Given the description of an element on the screen output the (x, y) to click on. 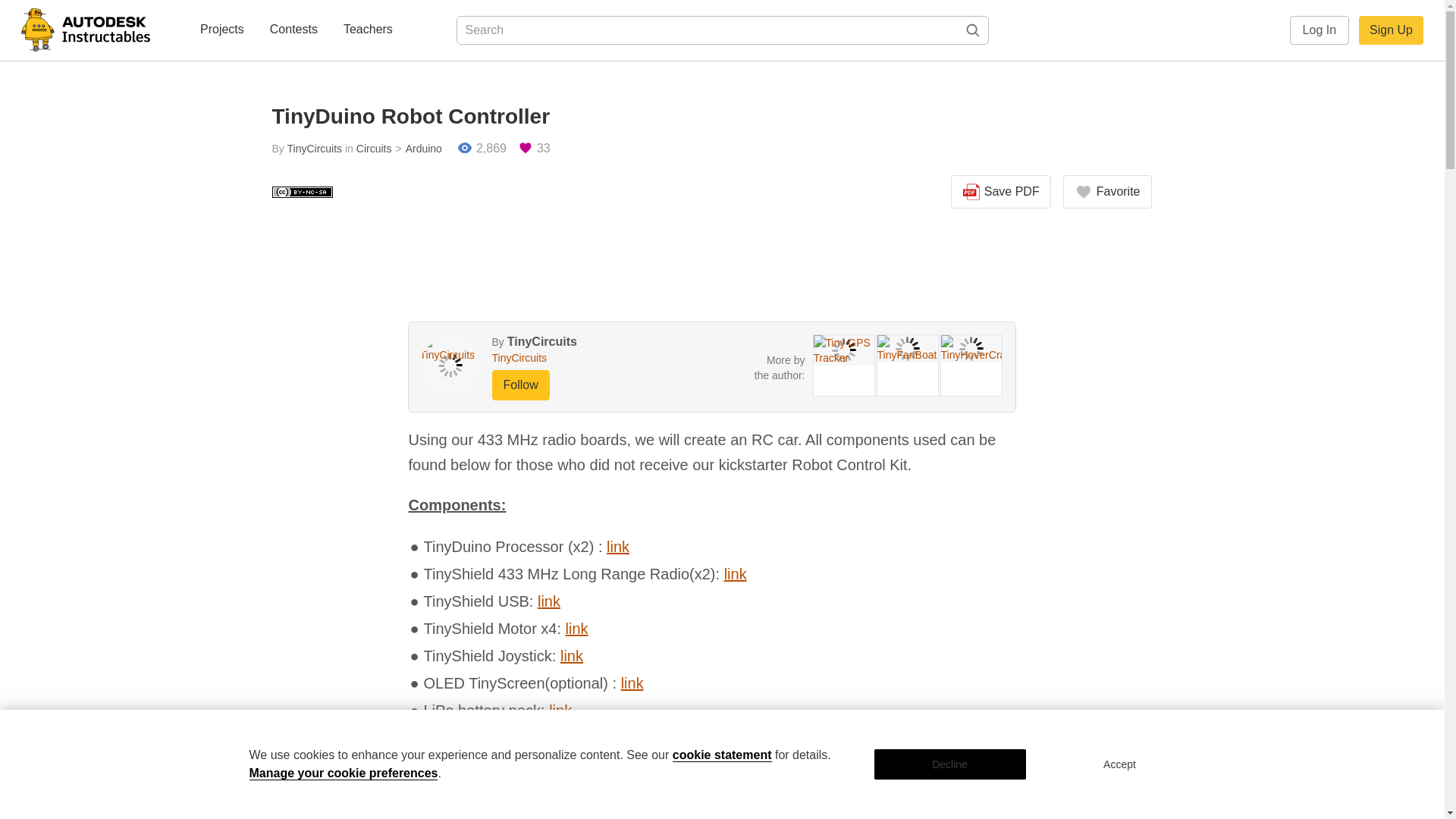
TinyCircuits (314, 148)
Teachers (368, 30)
link (571, 655)
Circuits (373, 148)
link (734, 573)
Favorite (1106, 191)
Sign Up (1390, 30)
Contests (293, 30)
link (632, 682)
link (548, 600)
TinyCircuits (570, 358)
Projects (221, 30)
Arduino (416, 148)
Follow (520, 385)
link (617, 546)
